Given the description of an element on the screen output the (x, y) to click on. 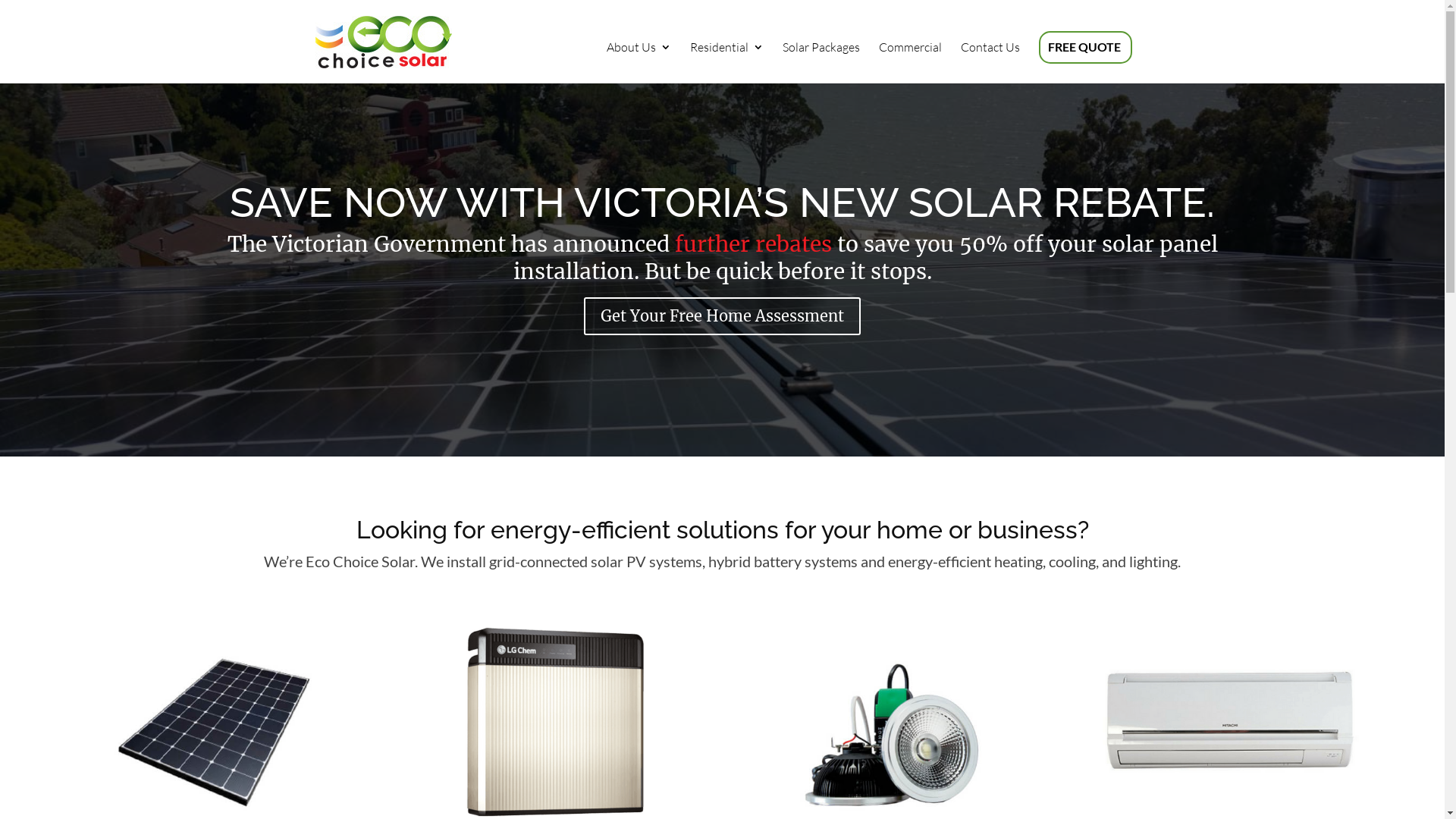
Commercial Element type: text (909, 62)
Residential Element type: text (726, 62)
FREE QUOTE Element type: text (1084, 62)
Get Your Free Home Assessment Element type: text (721, 316)
Solar Packages Element type: text (820, 62)
further rebates Element type: text (752, 243)
About Us Element type: text (638, 62)
Contact Us Element type: text (989, 62)
